Given the description of an element on the screen output the (x, y) to click on. 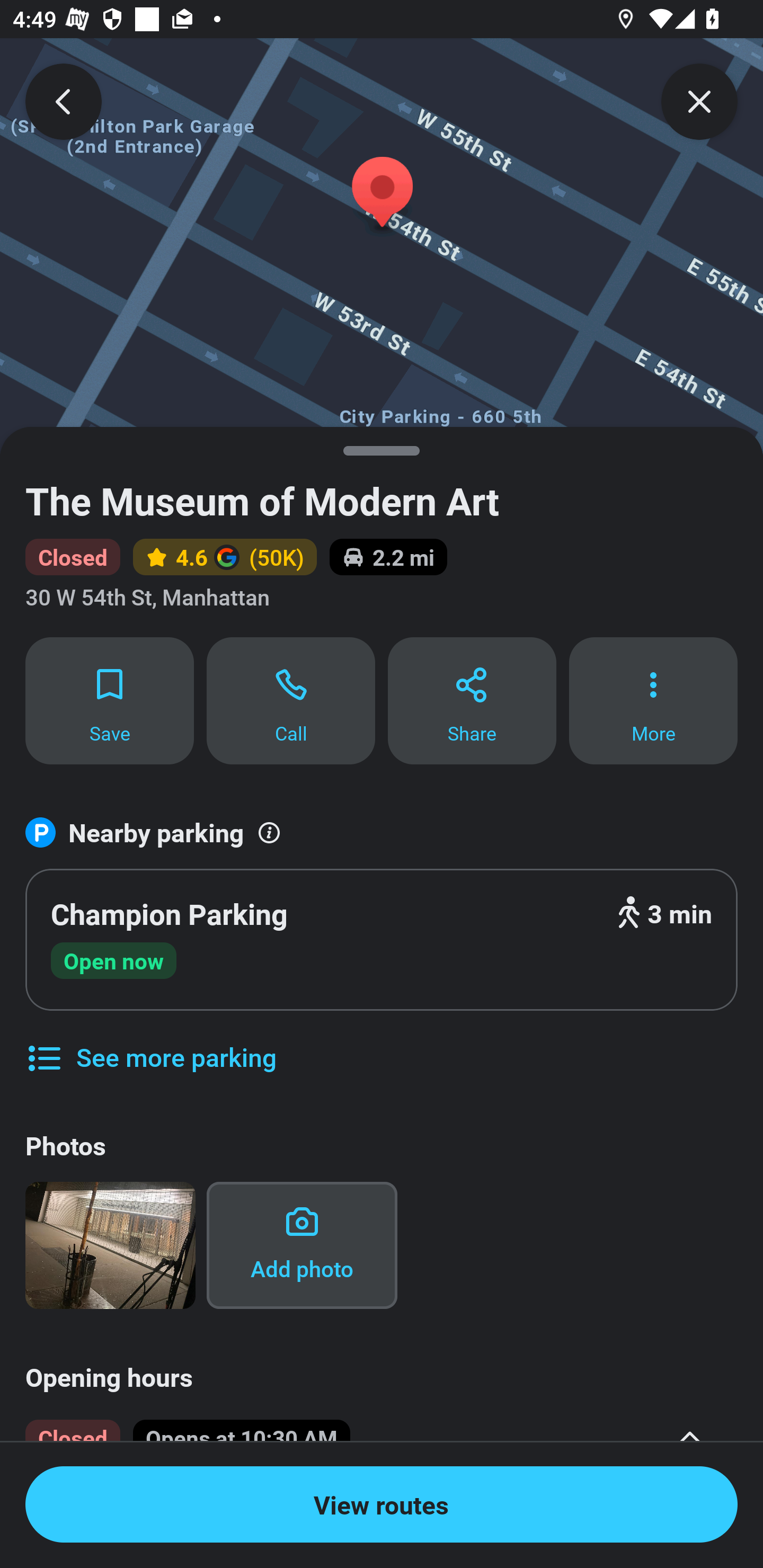
Save (109, 700)
Call (290, 700)
Share (471, 700)
More (653, 700)
Champion Parking 3 min Open now (381, 939)
See more parking (150, 1043)
Add photo (301, 1245)
View routes (381, 1504)
